Given the description of an element on the screen output the (x, y) to click on. 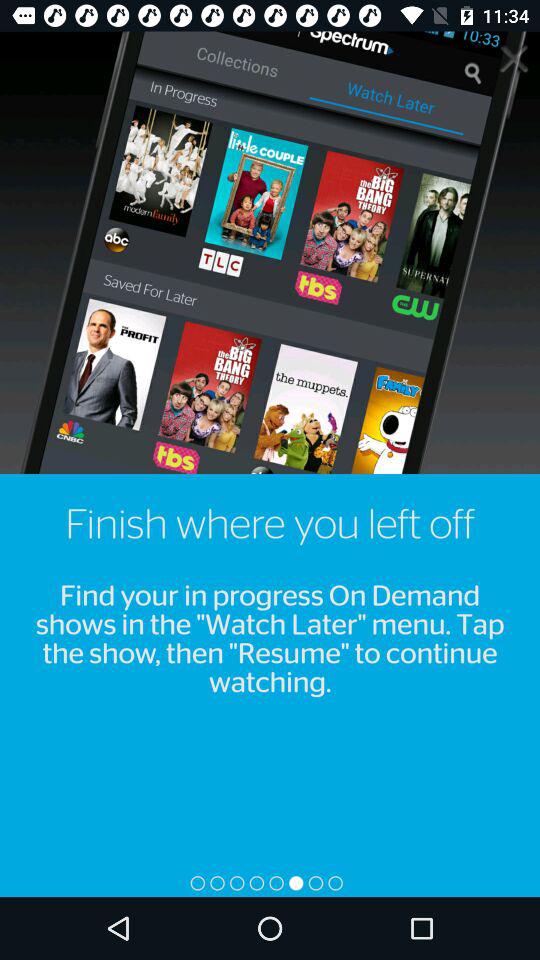
button image (513, 57)
